Given the description of an element on the screen output the (x, y) to click on. 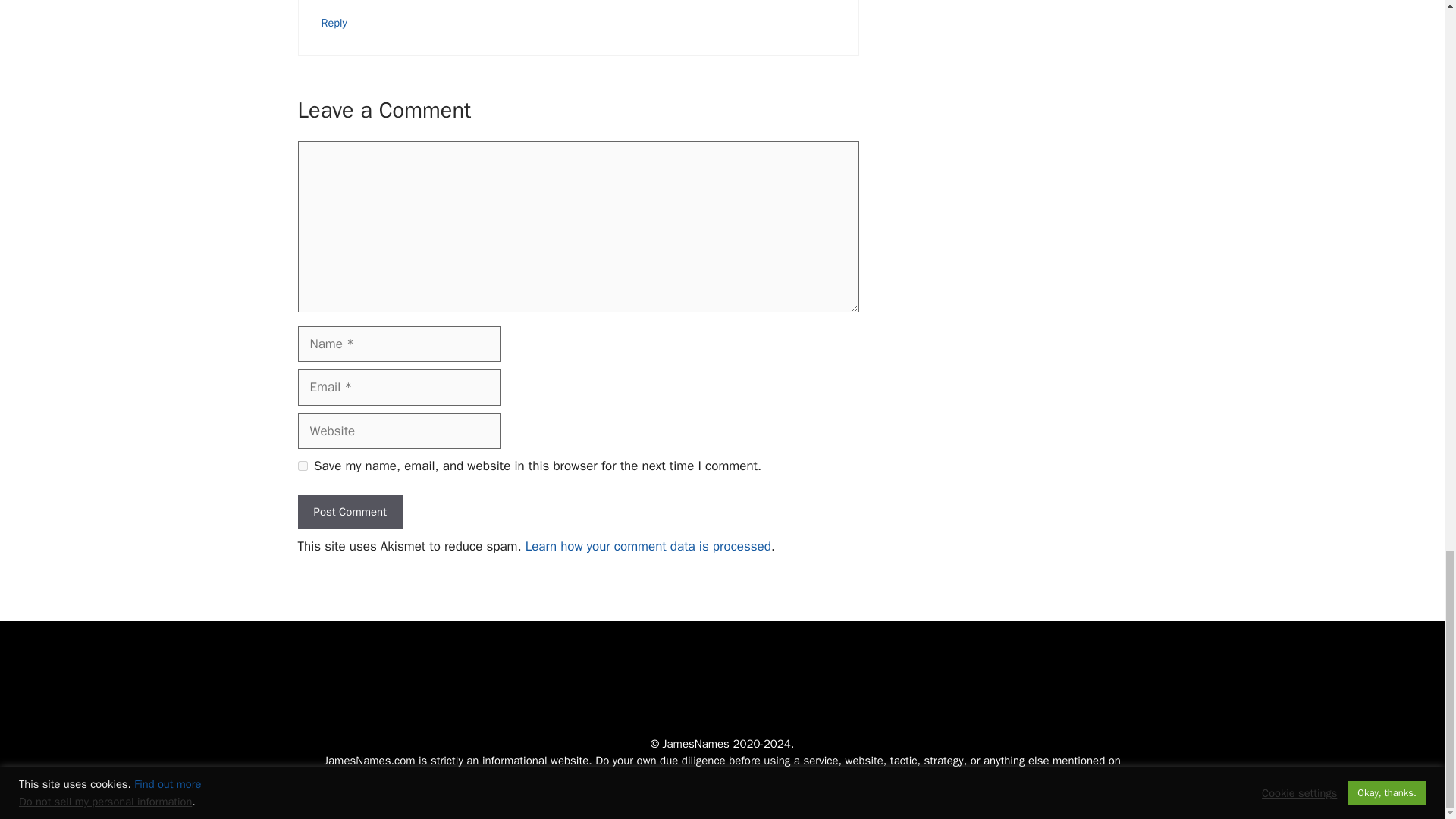
Learn how your comment data is processed (648, 546)
Post Comment (349, 512)
Terms (761, 794)
yes (302, 465)
Privacy Policy (699, 794)
Reply (334, 22)
Post Comment (349, 512)
